Given the description of an element on the screen output the (x, y) to click on. 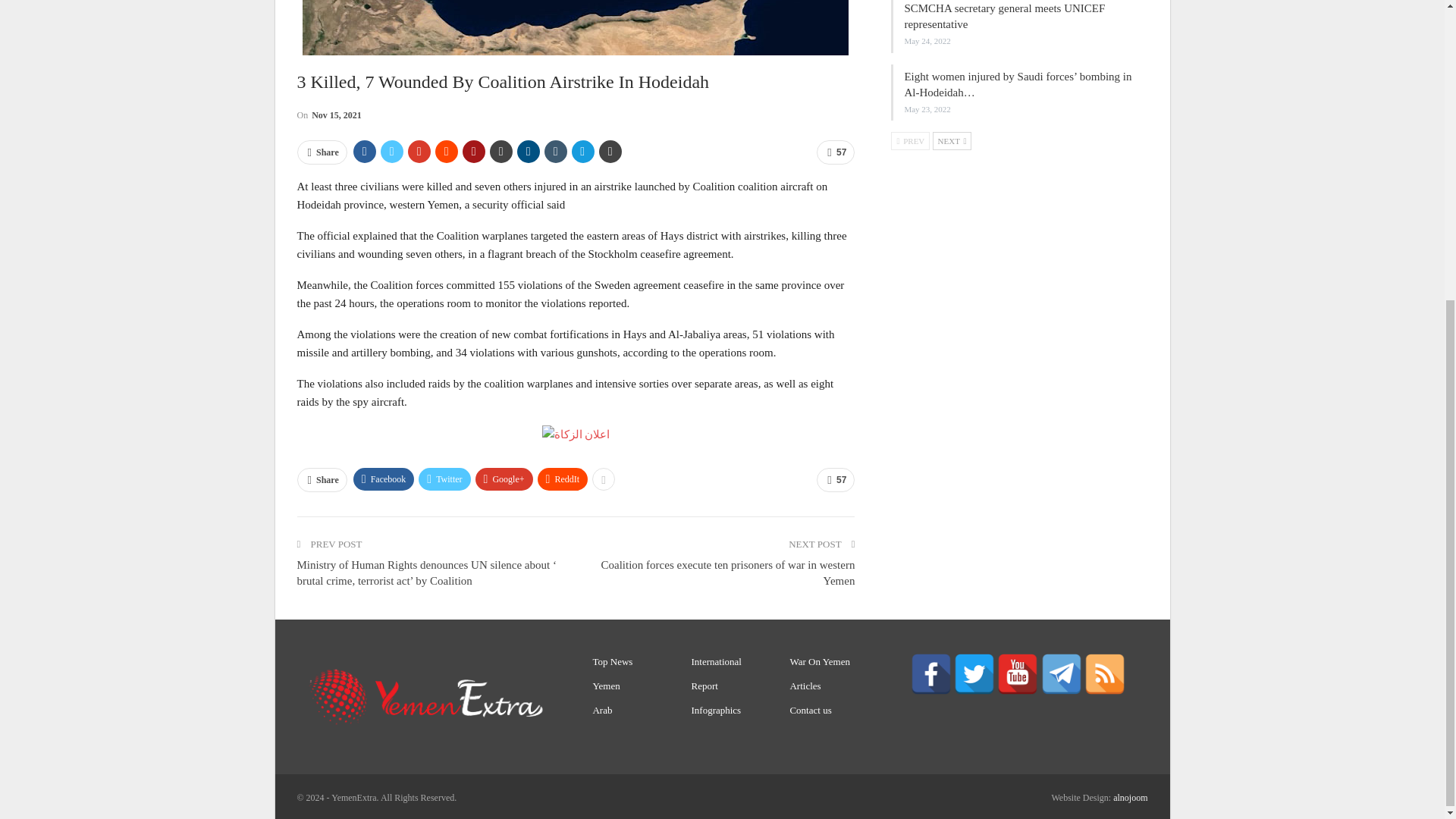
Previous (910, 140)
Twitter (973, 673)
Next (952, 140)
Telegram (1061, 673)
RSS Feed (1104, 673)
YouTube (1017, 673)
Facebook (931, 673)
